Given the description of an element on the screen output the (x, y) to click on. 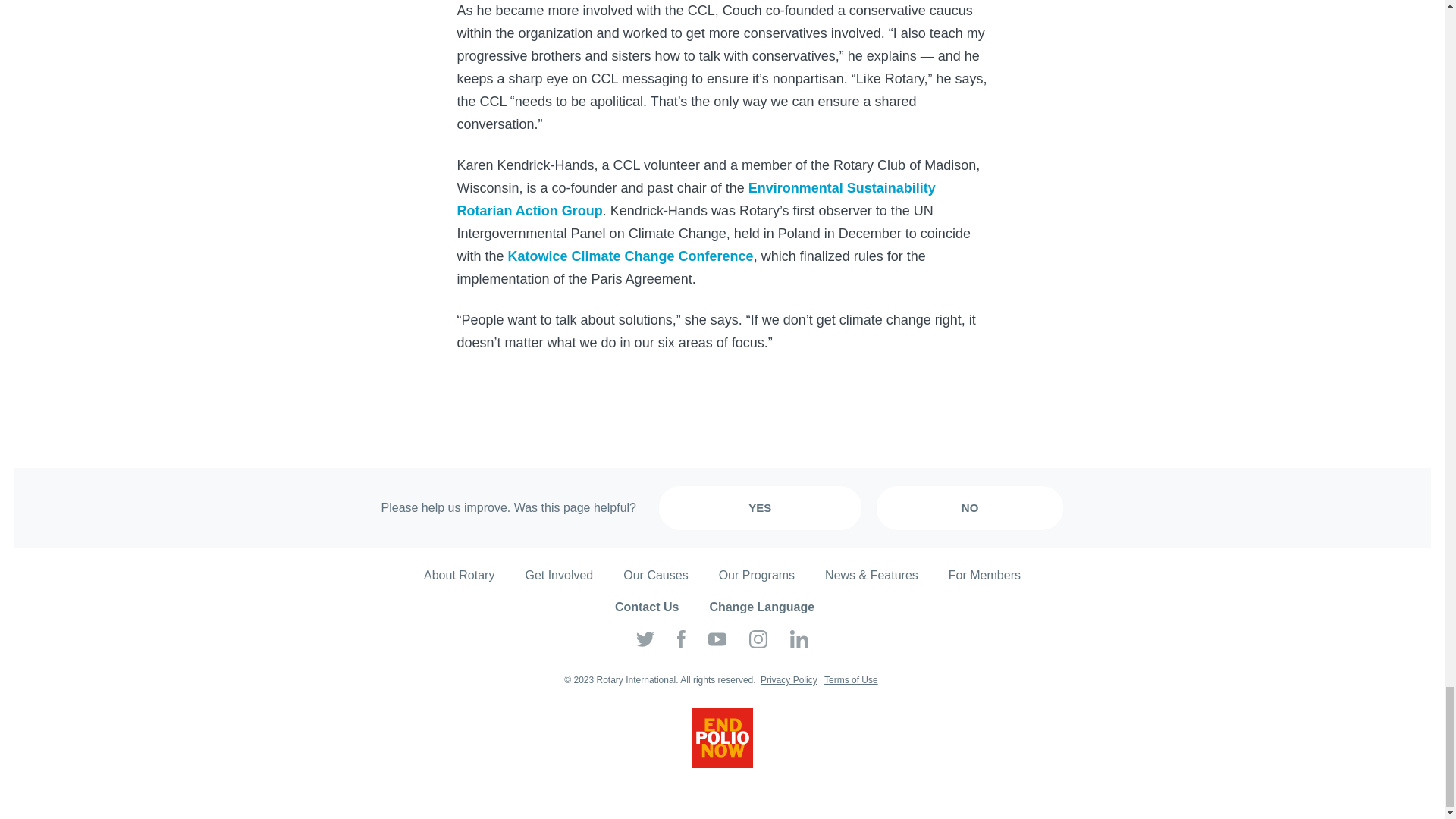
No (970, 507)
Yes (760, 507)
